Given the description of an element on the screen output the (x, y) to click on. 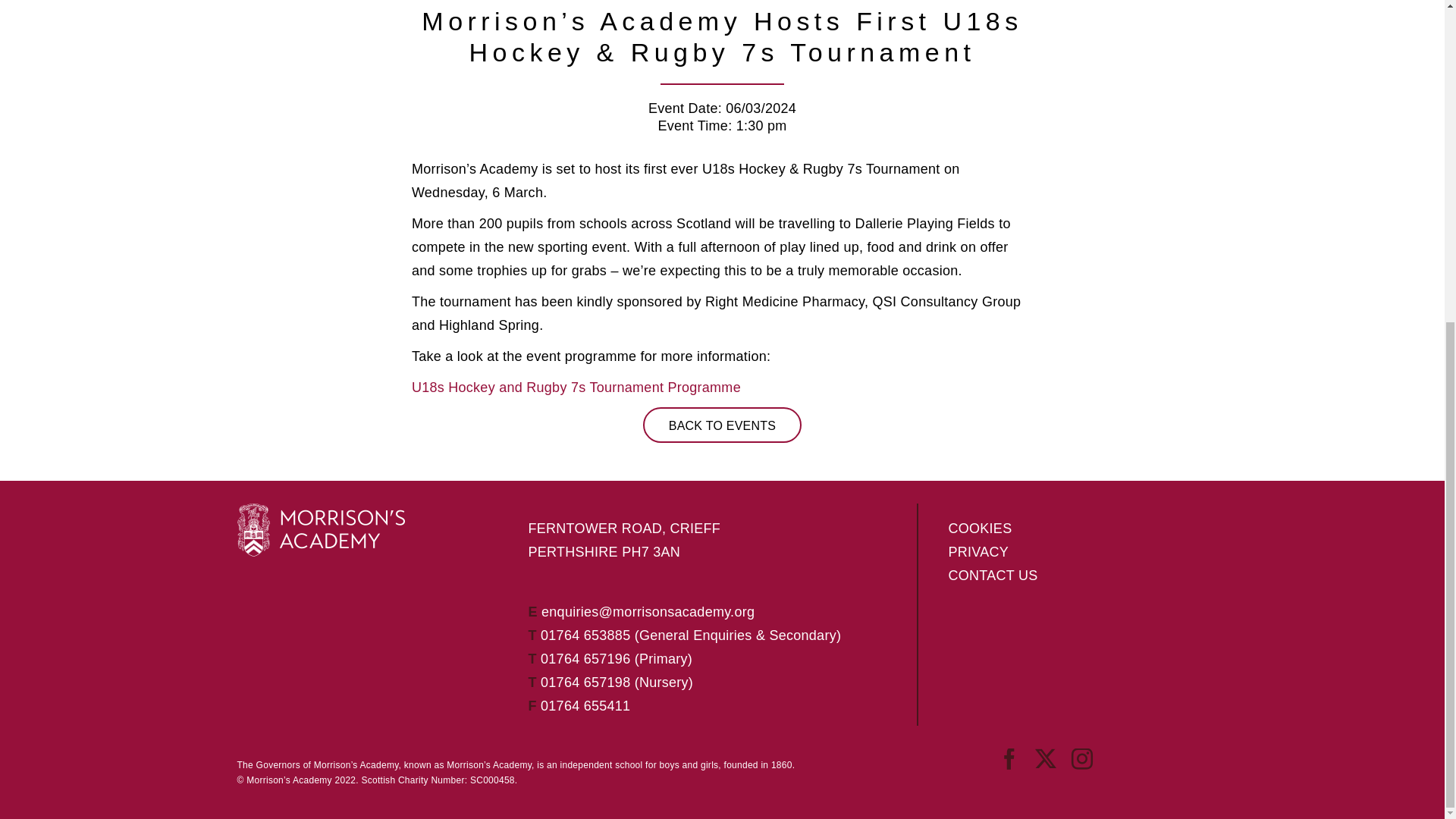
X (1046, 758)
Instagram (1082, 758)
Facebook (1009, 758)
